Given the description of an element on the screen output the (x, y) to click on. 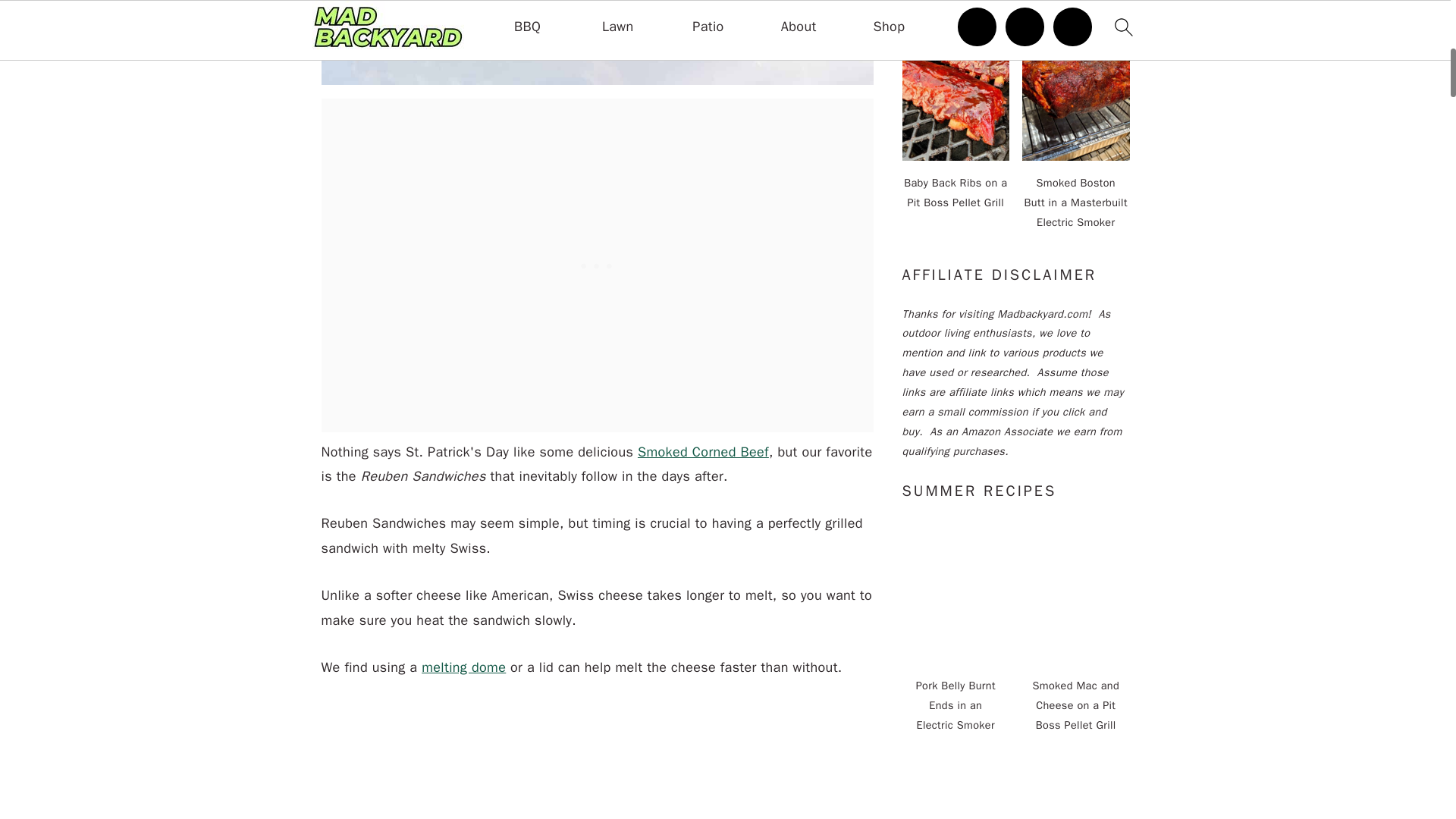
Smoked Corned Beef (702, 451)
melting dome (463, 667)
